Given the description of an element on the screen output the (x, y) to click on. 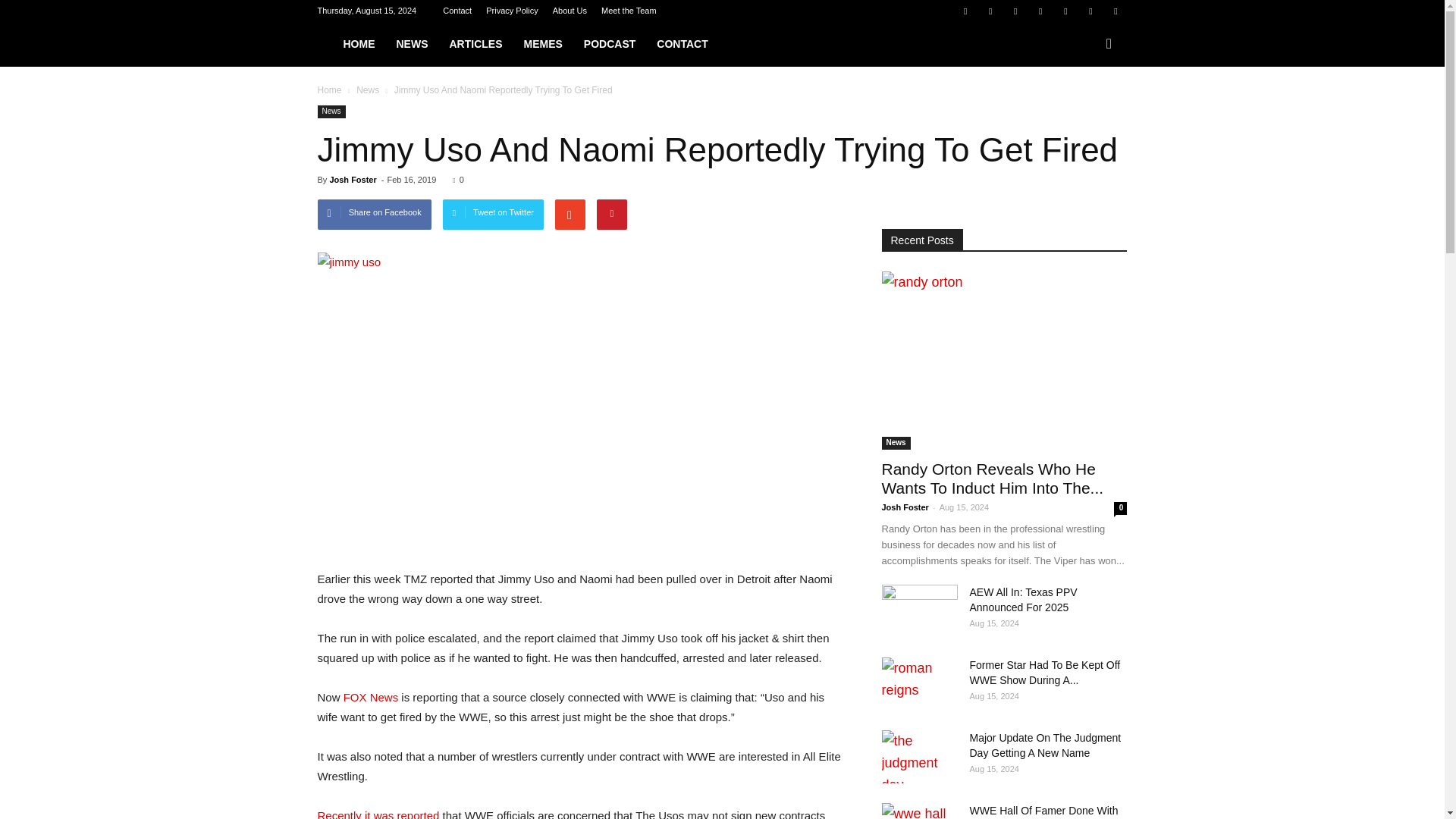
Pinterest (1040, 10)
NEWS (411, 43)
Facebook (964, 10)
Soundcloud (1065, 10)
ARTICLES (475, 43)
PODCAST (609, 43)
Contact (456, 10)
About Us (569, 10)
Meet the Team (628, 10)
MEMES (542, 43)
